Given the description of an element on the screen output the (x, y) to click on. 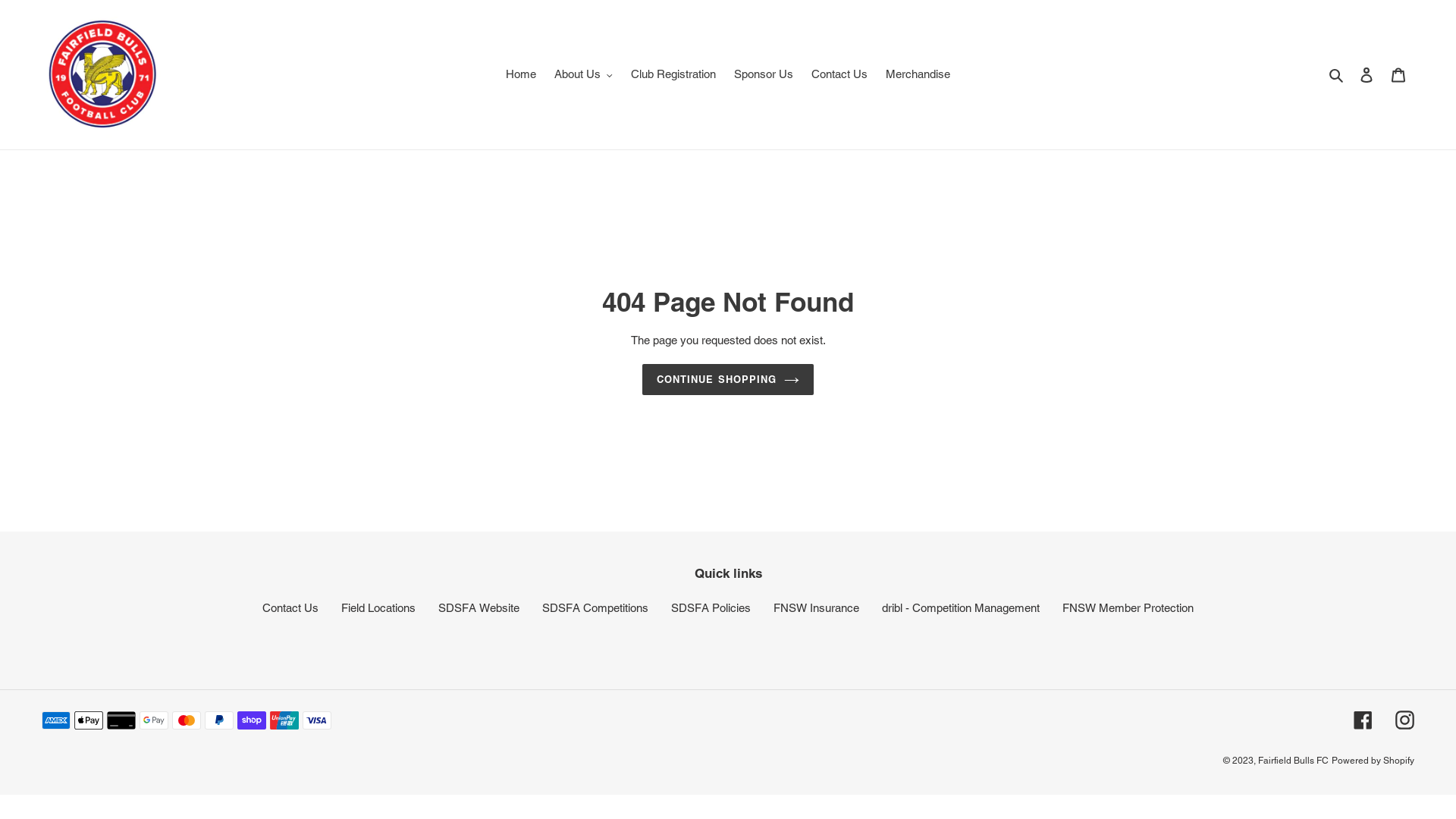
Contact Us Element type: text (290, 607)
Sponsor Us Element type: text (763, 74)
Search Element type: text (1337, 74)
SDSFA Website Element type: text (478, 607)
Field Locations Element type: text (378, 607)
CONTINUE SHOPPING Element type: text (727, 379)
Contact Us Element type: text (839, 74)
Powered by Shopify Element type: text (1372, 760)
SDSFA Policies Element type: text (710, 607)
Instagram Element type: text (1404, 719)
Log in Element type: text (1366, 74)
Cart Element type: text (1398, 74)
SDSFA Competitions Element type: text (595, 607)
Home Element type: text (520, 74)
Facebook Element type: text (1362, 719)
Club Registration Element type: text (673, 74)
FNSW Insurance Element type: text (816, 607)
FNSW Member Protection Element type: text (1127, 607)
dribl - Competition Management Element type: text (960, 607)
About Us Element type: text (583, 74)
Merchandise Element type: text (917, 74)
Fairfield Bulls FC Element type: text (1293, 760)
